Given the description of an element on the screen output the (x, y) to click on. 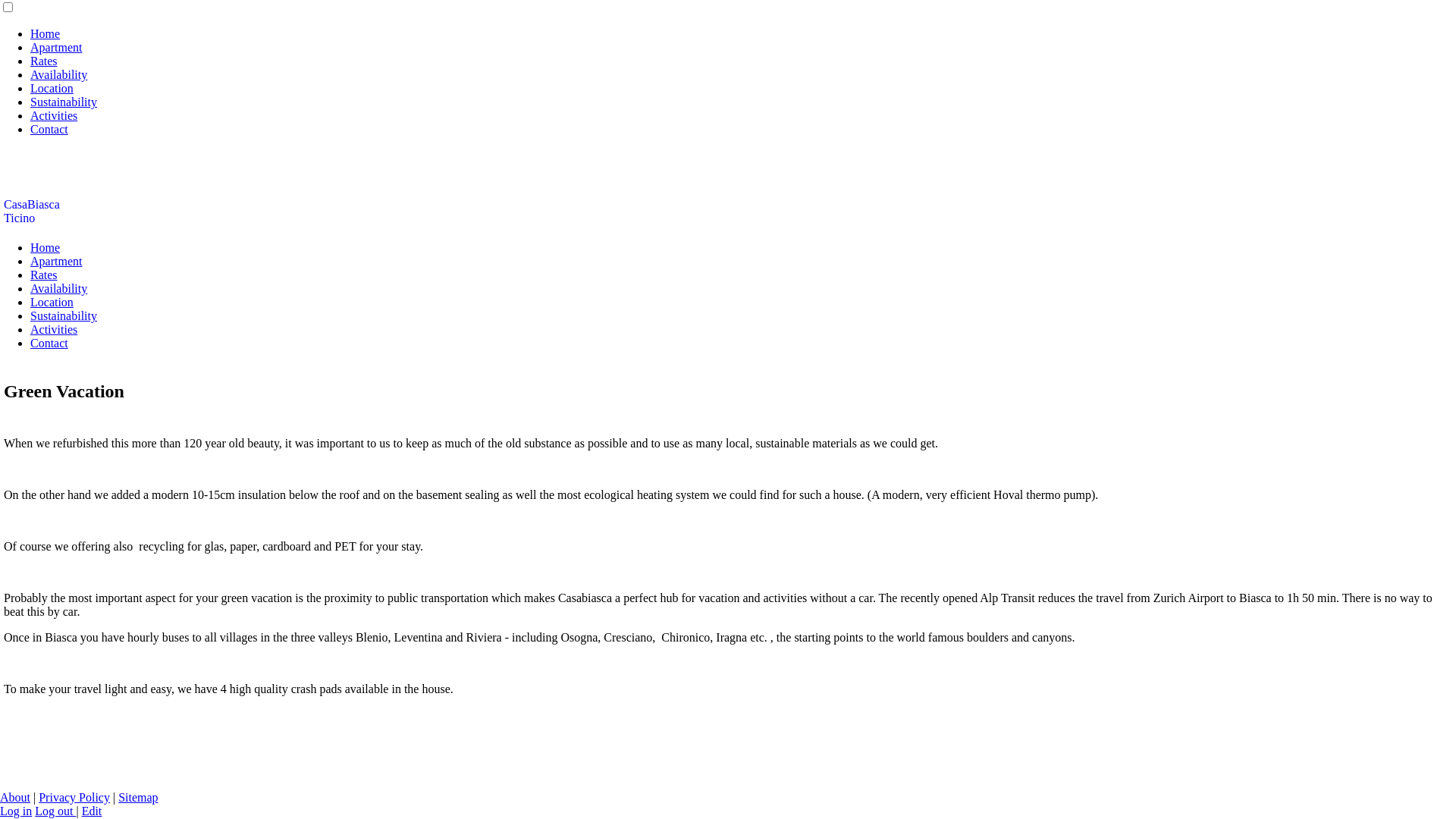
Edit Element type: text (91, 810)
CasaBiasca 
Ticino Element type: text (32, 210)
Apartment Element type: text (55, 260)
Home Element type: text (44, 247)
Activities Element type: text (53, 329)
Sitemap Element type: text (137, 796)
Contact Element type: text (49, 342)
Activities Element type: text (53, 115)
Privacy Policy Element type: text (73, 796)
Sustainability Element type: text (63, 101)
Rates Element type: text (43, 60)
Log out Element type: text (54, 810)
Apartment Element type: text (55, 46)
Rates Element type: text (43, 274)
About Element type: text (15, 796)
Log in Element type: text (15, 810)
Availability Element type: text (58, 74)
Location Element type: text (51, 301)
Contact Element type: text (49, 128)
Availability Element type: text (58, 288)
Sustainability Element type: text (63, 315)
Location Element type: text (51, 87)
Home Element type: text (44, 33)
